Given the description of an element on the screen output the (x, y) to click on. 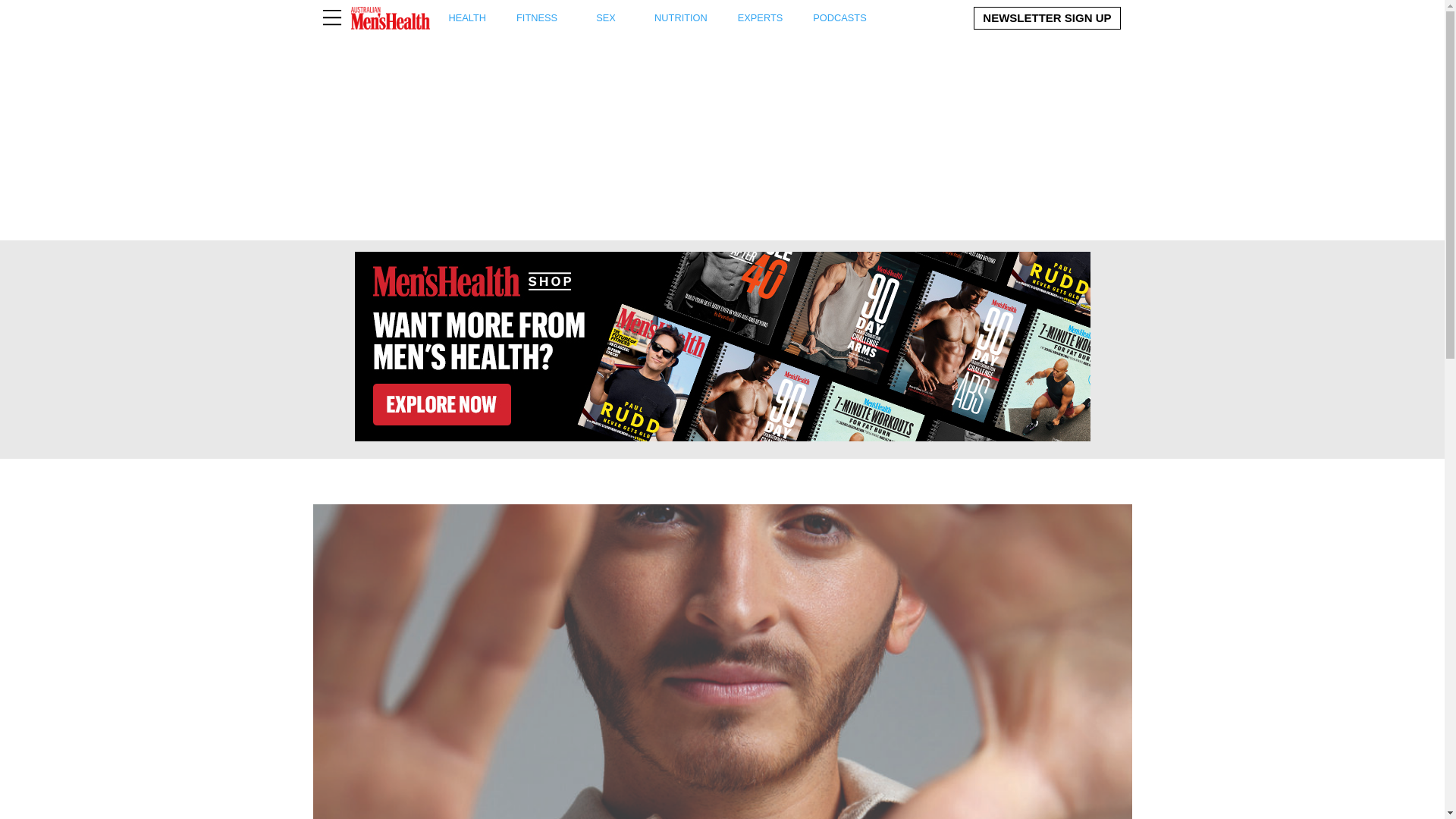
SEX (606, 18)
NUTRITION (680, 18)
EXPERTS (760, 18)
HEALTH (467, 18)
FITNESS (657, 18)
